Given the description of an element on the screen output the (x, y) to click on. 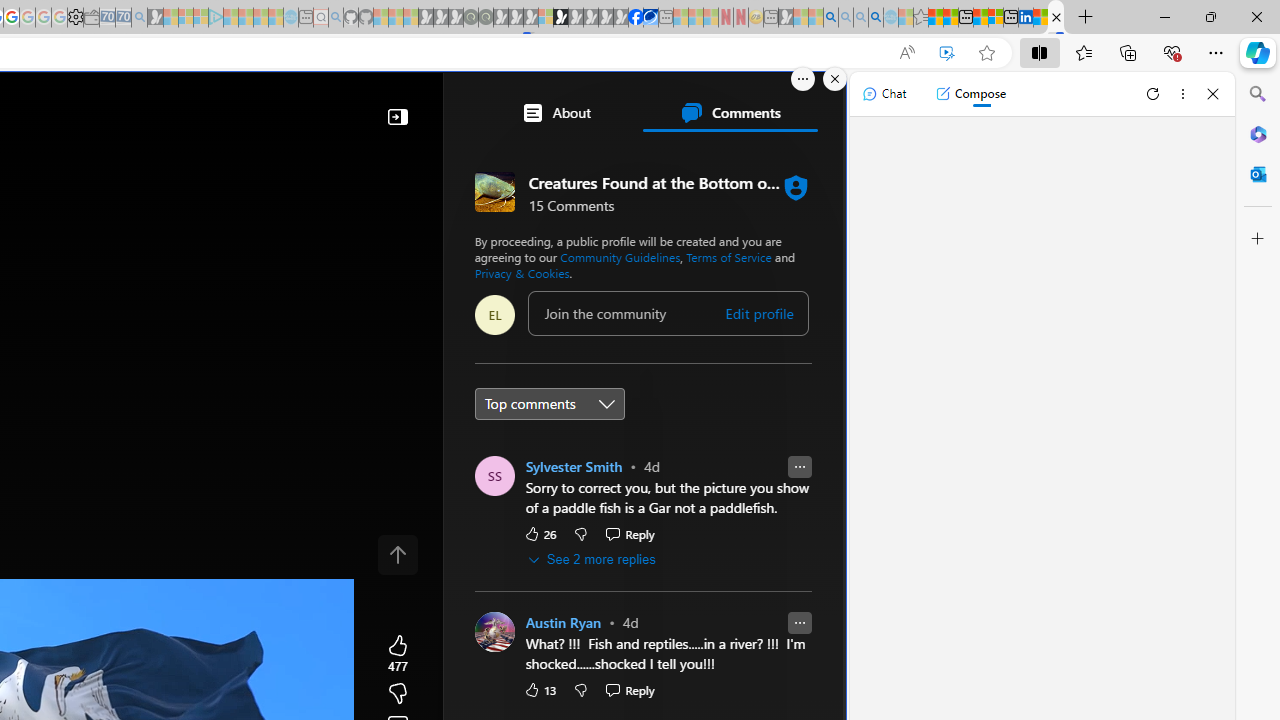
Wallet - Sleeping (91, 17)
Class: control icon-only (397, 554)
Creatures Found at the Bottom of the Mississippi River (1055, 17)
 GettyImages-2157578835.jpg (761, 678)
